Given the description of an element on the screen output the (x, y) to click on. 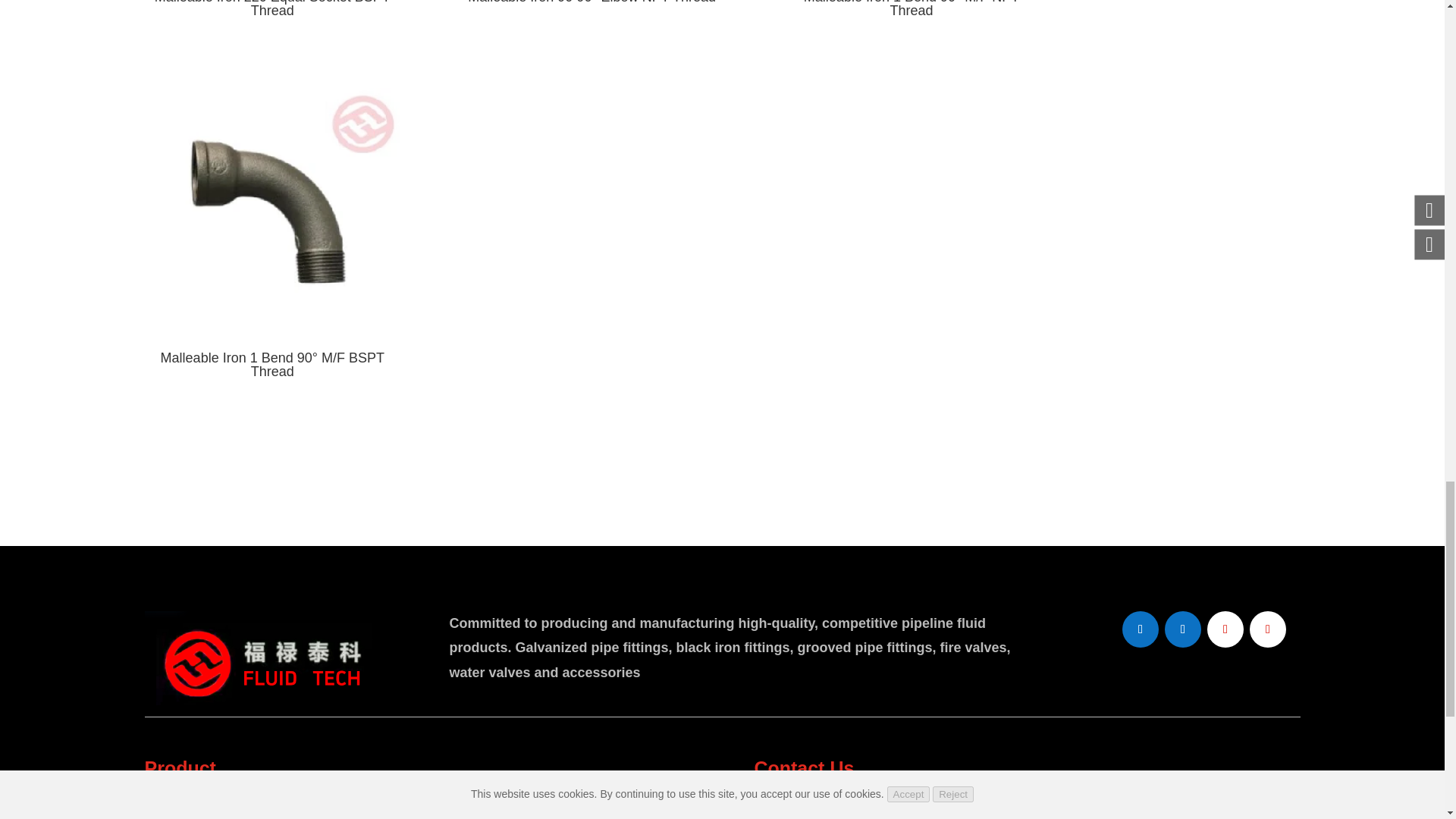
Follow on Facebook (1140, 628)
Follow on Youtube (1225, 628)
Follow on Instagram (1267, 628)
Fluid Tech Group (264, 657)
Follow on LinkedIn (1182, 628)
